Given the description of an element on the screen output the (x, y) to click on. 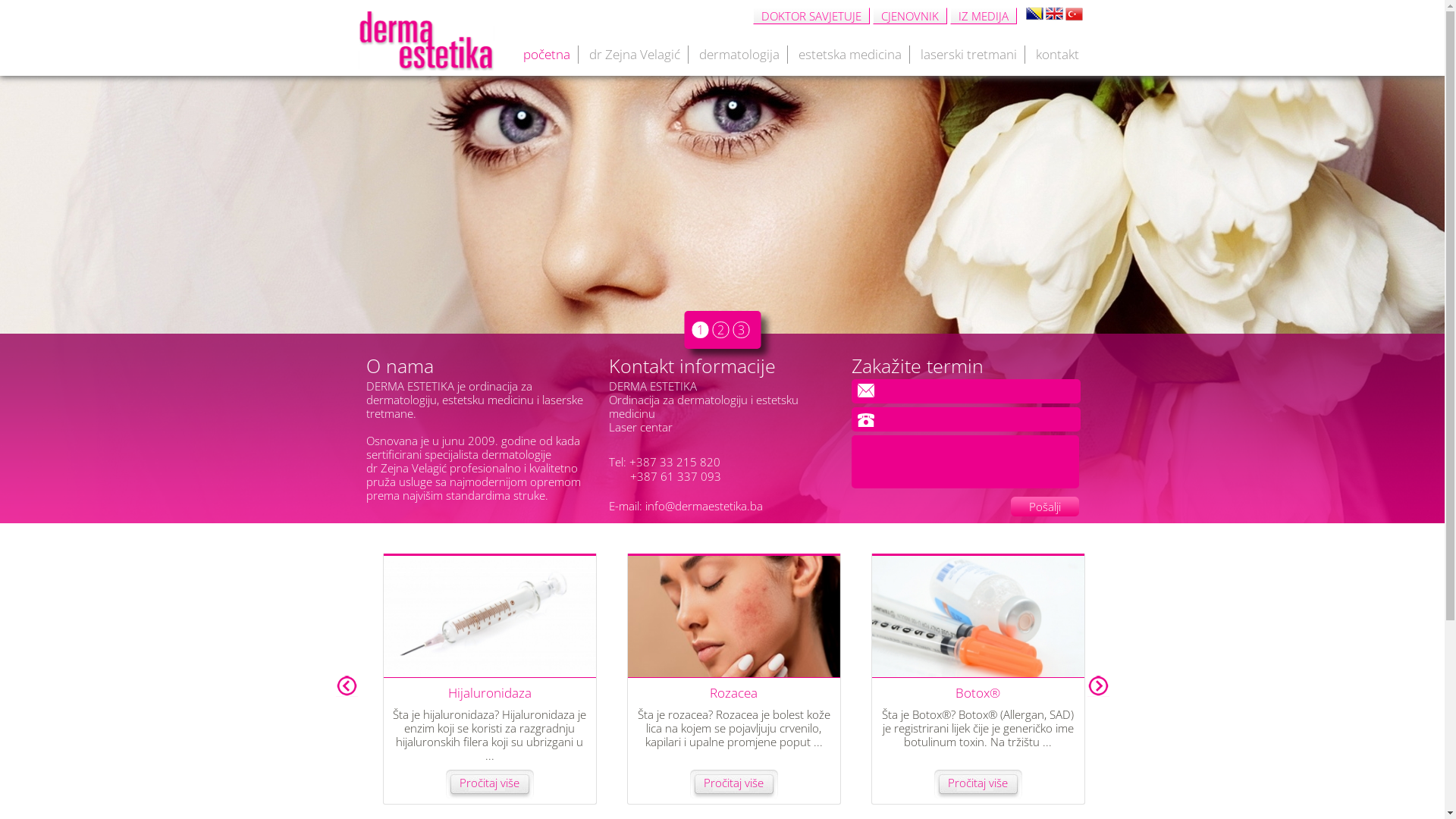
estetska medicina Element type: text (849, 54)
2 Element type: text (720, 329)
3 Element type: text (740, 329)
DOKTOR SAVJETUJE Element type: text (810, 15)
CJENOVNIK Element type: text (909, 15)
kontakt Element type: text (1057, 54)
1 Element type: text (699, 329)
IZ MEDIJA Element type: text (982, 15)
dermatologija Element type: text (739, 54)
laserski tretmani Element type: text (968, 54)
